Given the description of an element on the screen output the (x, y) to click on. 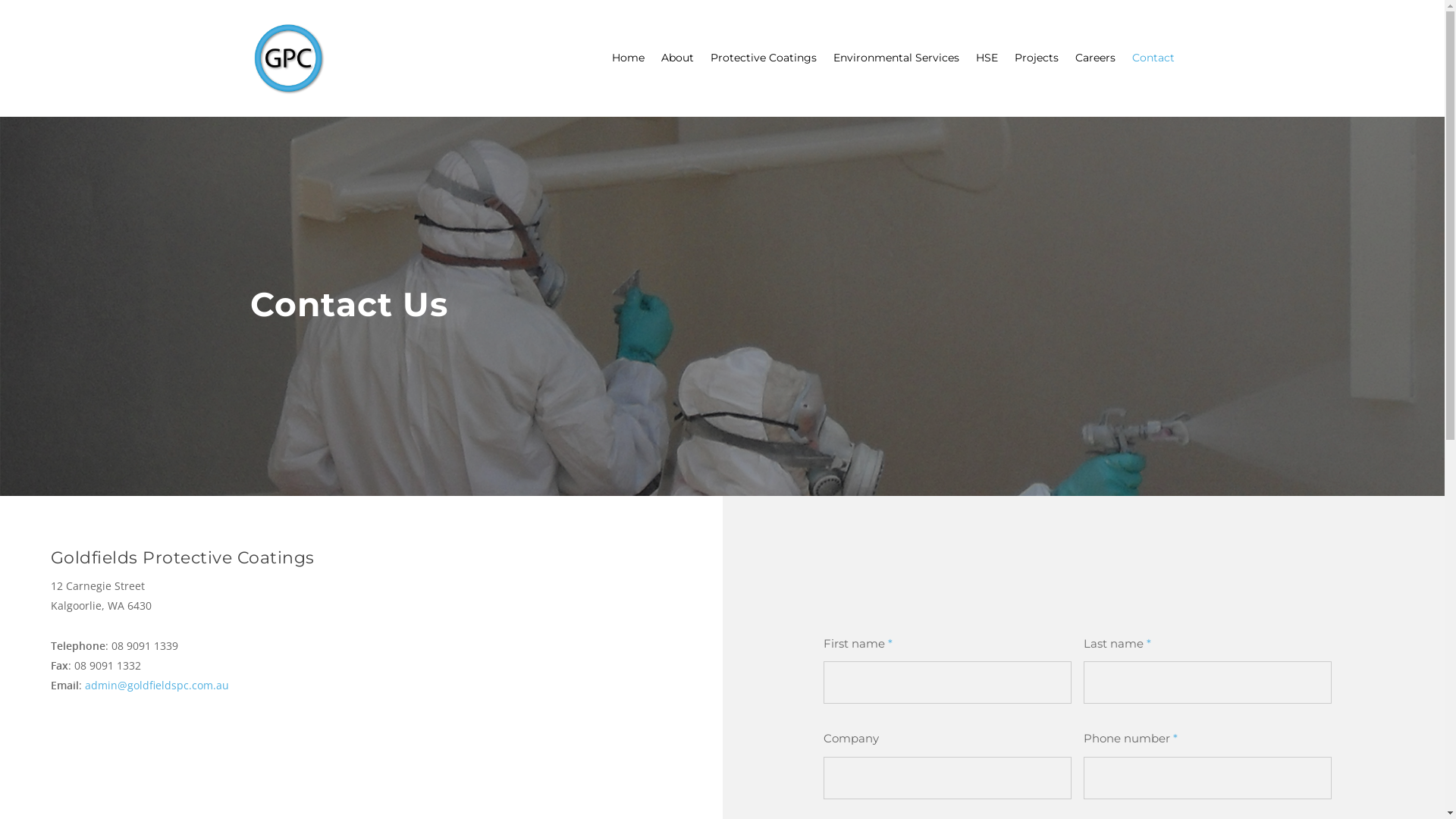
Environmental Services Element type: text (895, 68)
Projects Element type: text (1036, 68)
admin@goldfieldspc.com.au Element type: text (156, 684)
Careers Element type: text (1095, 68)
Home Element type: text (628, 68)
Contact Element type: text (1153, 68)
Protective Coatings Element type: text (763, 68)
HSE Element type: text (986, 68)
About Element type: text (677, 68)
